Given the description of an element on the screen output the (x, y) to click on. 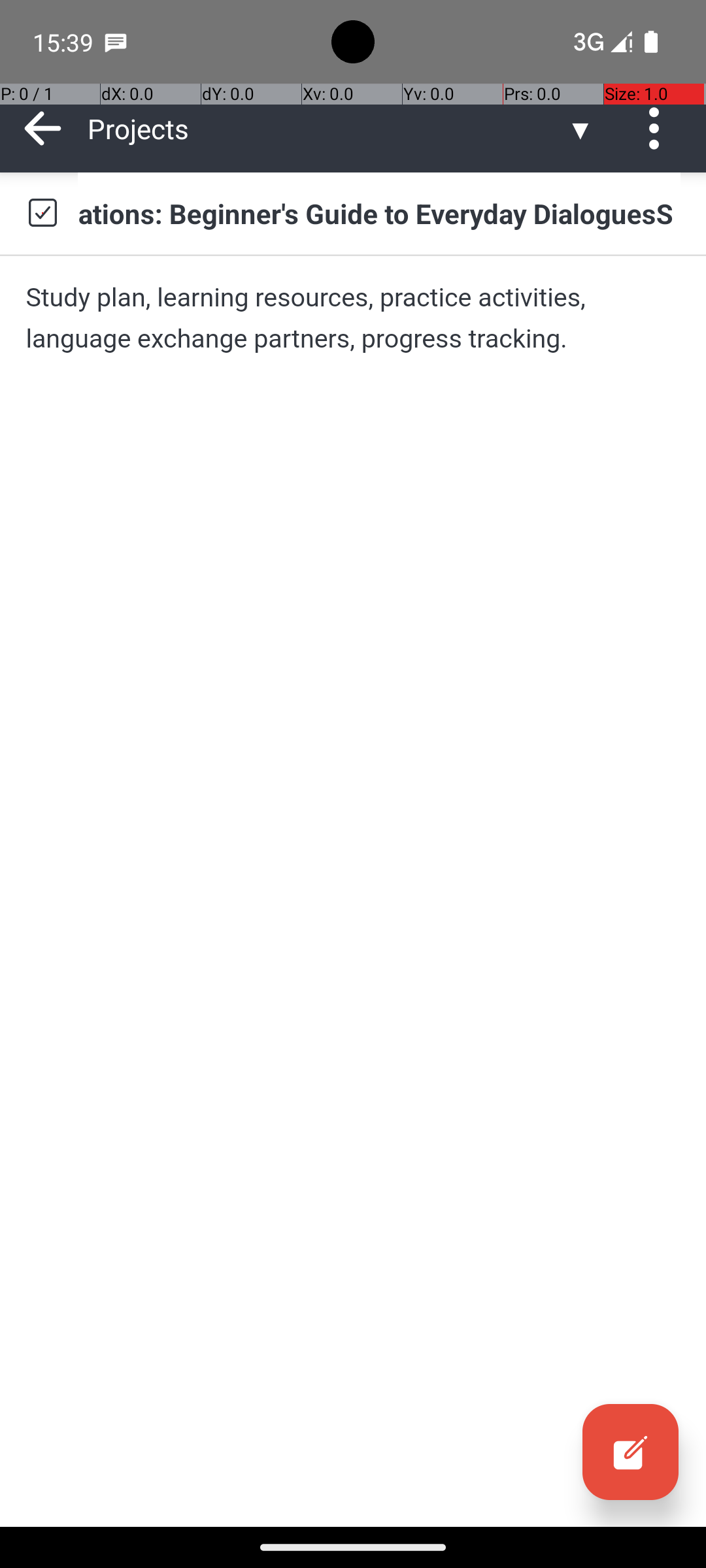
Language Learning Project - Conversational Spanish Conversations: Beginner's Guide to Everyday DialoguesSpanish for BeginnersConversational Spanish Element type: android.widget.EditText (378, 213)
Projects Element type: android.widget.TextView (326, 128)
 Element type: android.widget.TextView (42, 212)
Study plan, learning resources, practice activities, language exchange partners, progress tracking. Element type: android.widget.TextView (352, 317)
15:39 Element type: android.widget.TextView (64, 41)
